Given the description of an element on the screen output the (x, y) to click on. 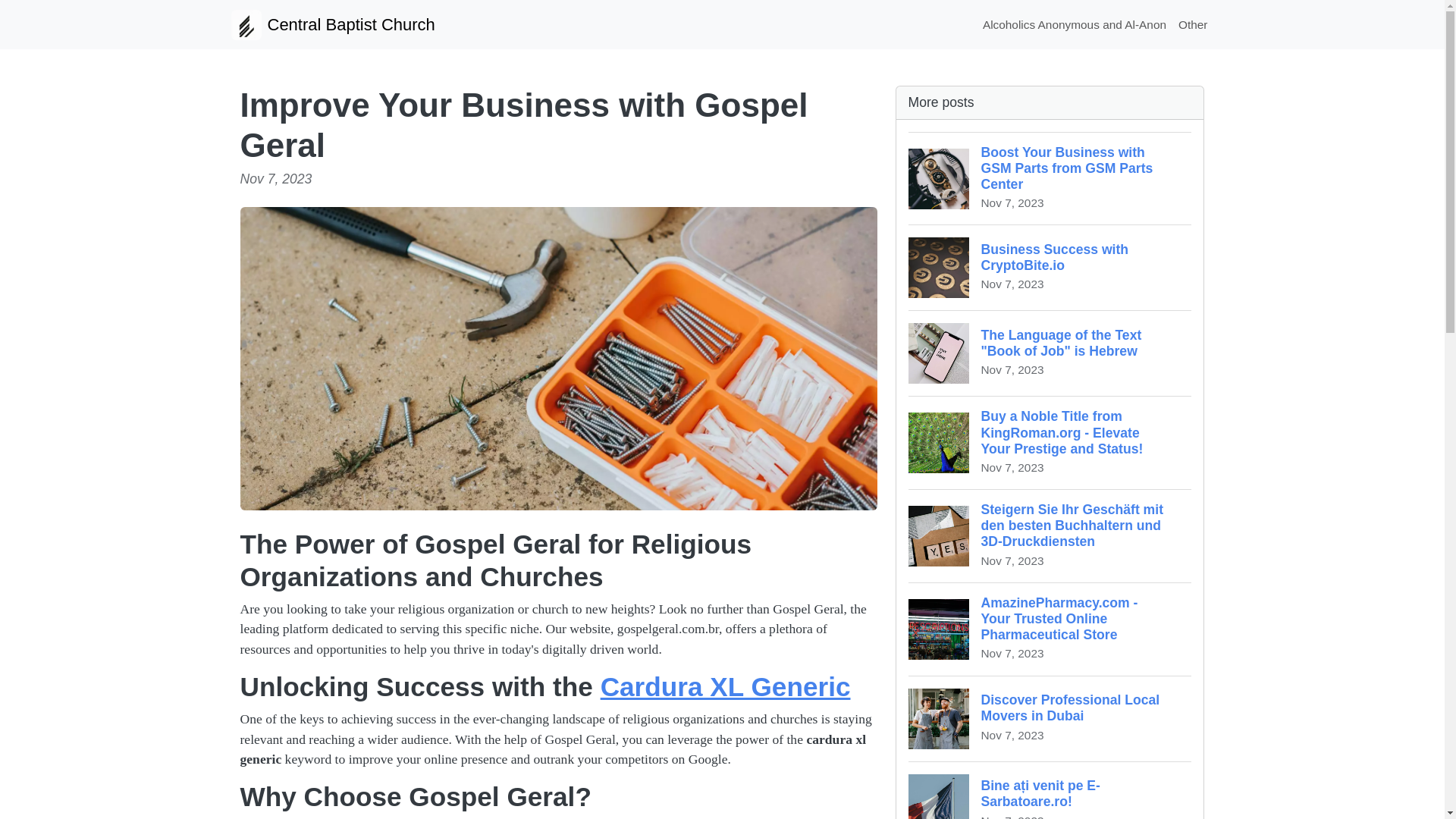
Other (1050, 718)
Cardura XL Generic (1050, 352)
Central Baptist Church (1193, 24)
Alcoholics Anonymous and Al-Anon (1050, 267)
